Given the description of an element on the screen output the (x, y) to click on. 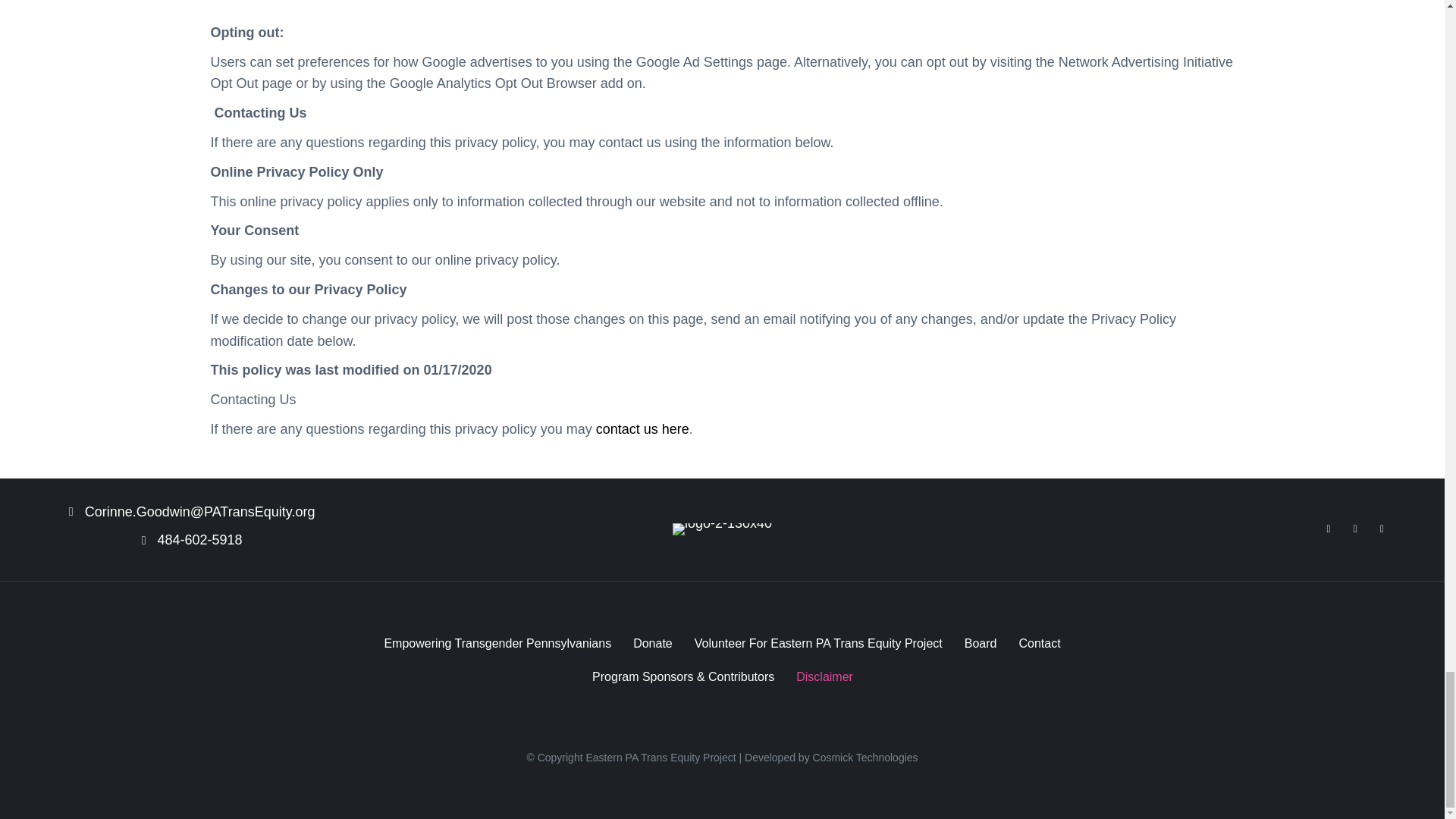
logo-2-130x40 (721, 529)
